Given the description of an element on the screen output the (x, y) to click on. 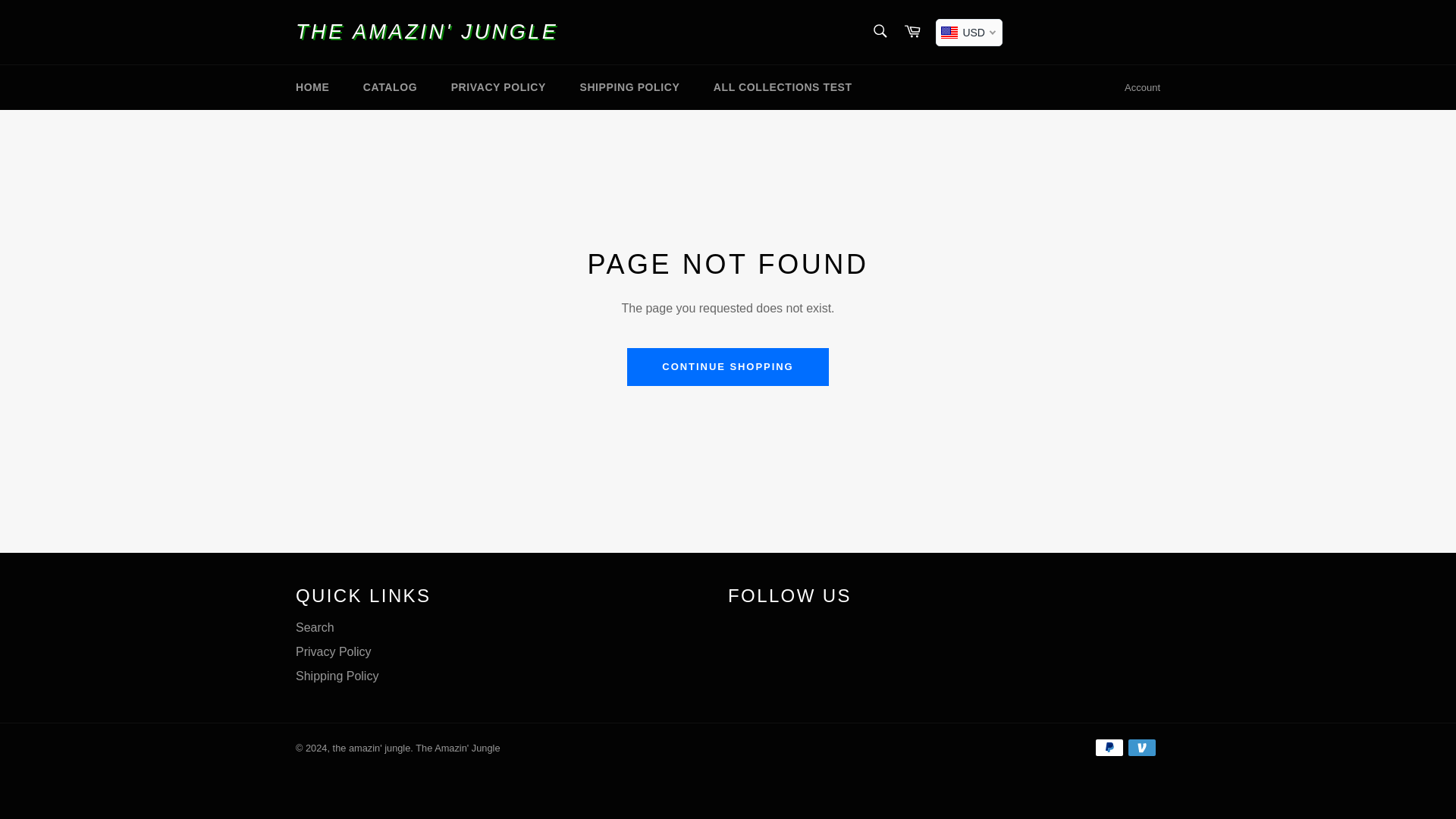
The Amazin' Jungle (456, 747)
Shipping Policy (336, 675)
ALL COLLECTIONS TEST (782, 87)
the amazin' jungle (371, 747)
SHIPPING POLICY (629, 87)
Search (314, 626)
Search (878, 30)
Account (1141, 87)
Privacy Policy (333, 651)
CONTINUE SHOPPING (727, 366)
THE AMAZIN' JUNGLE (426, 31)
HOME (312, 87)
Cart (912, 32)
CATALOG (389, 87)
PRIVACY POLICY (497, 87)
